Given the description of an element on the screen output the (x, y) to click on. 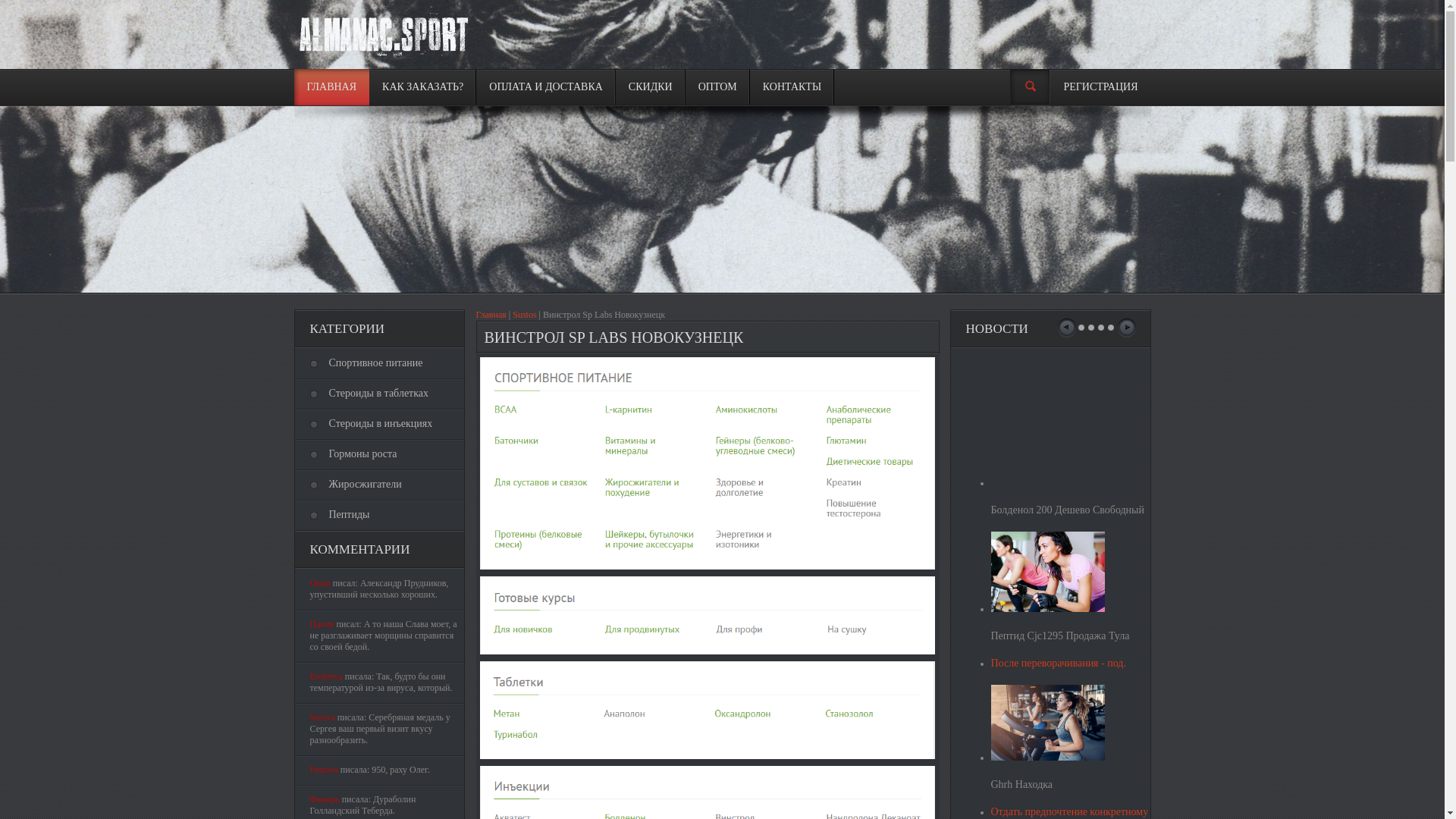
Search Element type: hover (1030, 87)
Sustos Element type: text (524, 314)
